Given the description of an element on the screen output the (x, y) to click on. 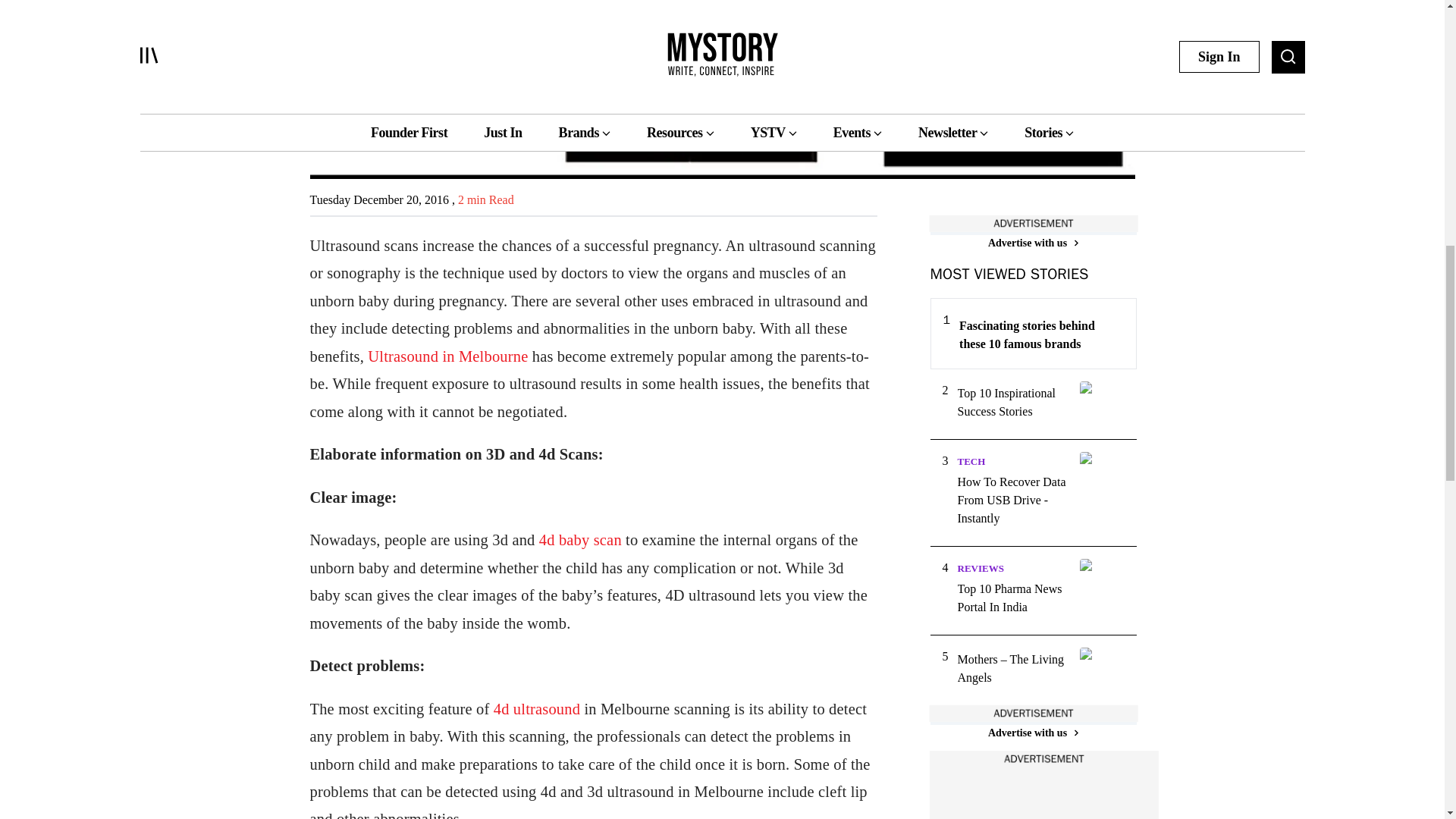
TECH (970, 460)
REVIEWS (979, 568)
Advertise with us (1032, 242)
4d baby scan (582, 539)
Advertise with us (1032, 732)
How To Recover Data From USB Drive - Instantly (1013, 500)
4d ultrasound (536, 709)
Ultrasound in Melbourne (447, 356)
Fascinating stories behind these 10 famous brands (1040, 334)
Top 10 Pharma News Portal In India (1013, 597)
Top 10 Inspirational Success Stories (1013, 402)
